Given the description of an element on the screen output the (x, y) to click on. 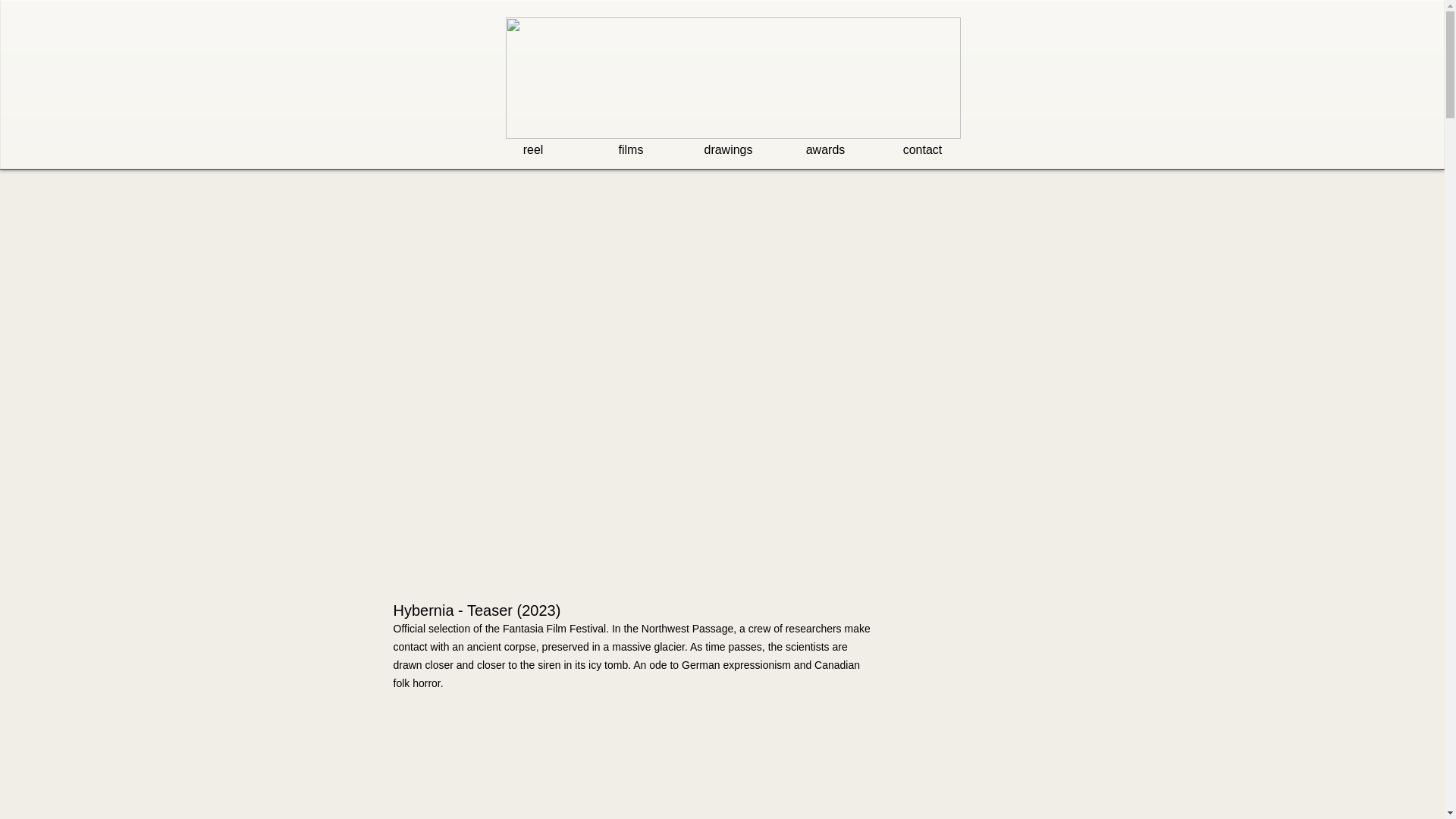
drawings (727, 149)
films (630, 149)
contact (922, 149)
awards (824, 149)
reel (531, 149)
